Given the description of an element on the screen output the (x, y) to click on. 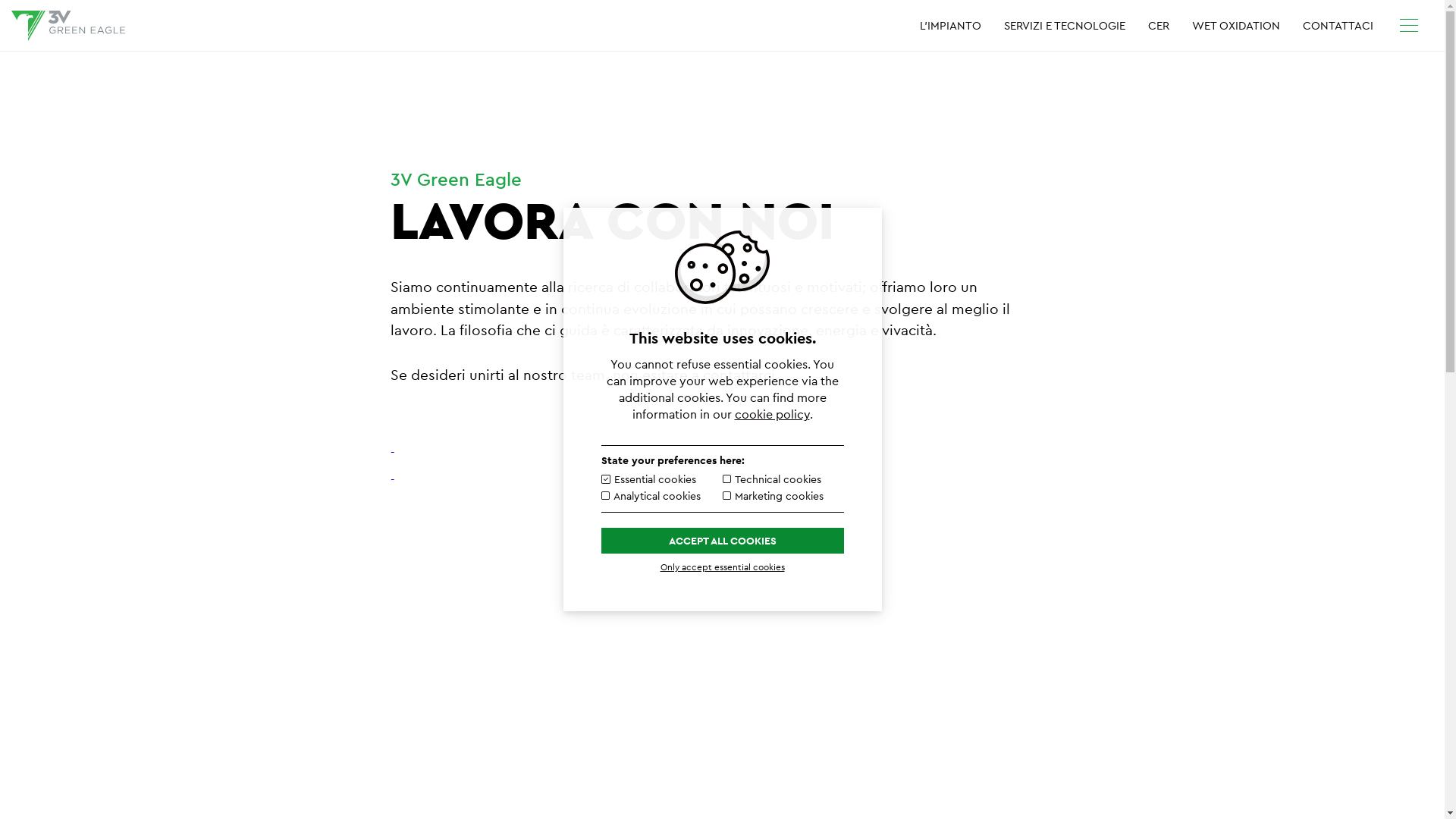
CONTATTACI Element type: text (1337, 24)
L'IMPIANTO Element type: text (950, 24)
cookie policy Element type: text (771, 413)
- Element type: text (392, 478)
CER Element type: text (1158, 24)
Torna alla homepage Element type: hover (68, 25)
SERVIZI E TECNOLOGIE Element type: text (1064, 24)
- Element type: text (392, 451)
WET OXIDATION Element type: text (1236, 24)
ACCEPT ALL COOKIES Element type: text (721, 540)
Only accept essential cookies Element type: text (721, 567)
